Given the description of an element on the screen output the (x, y) to click on. 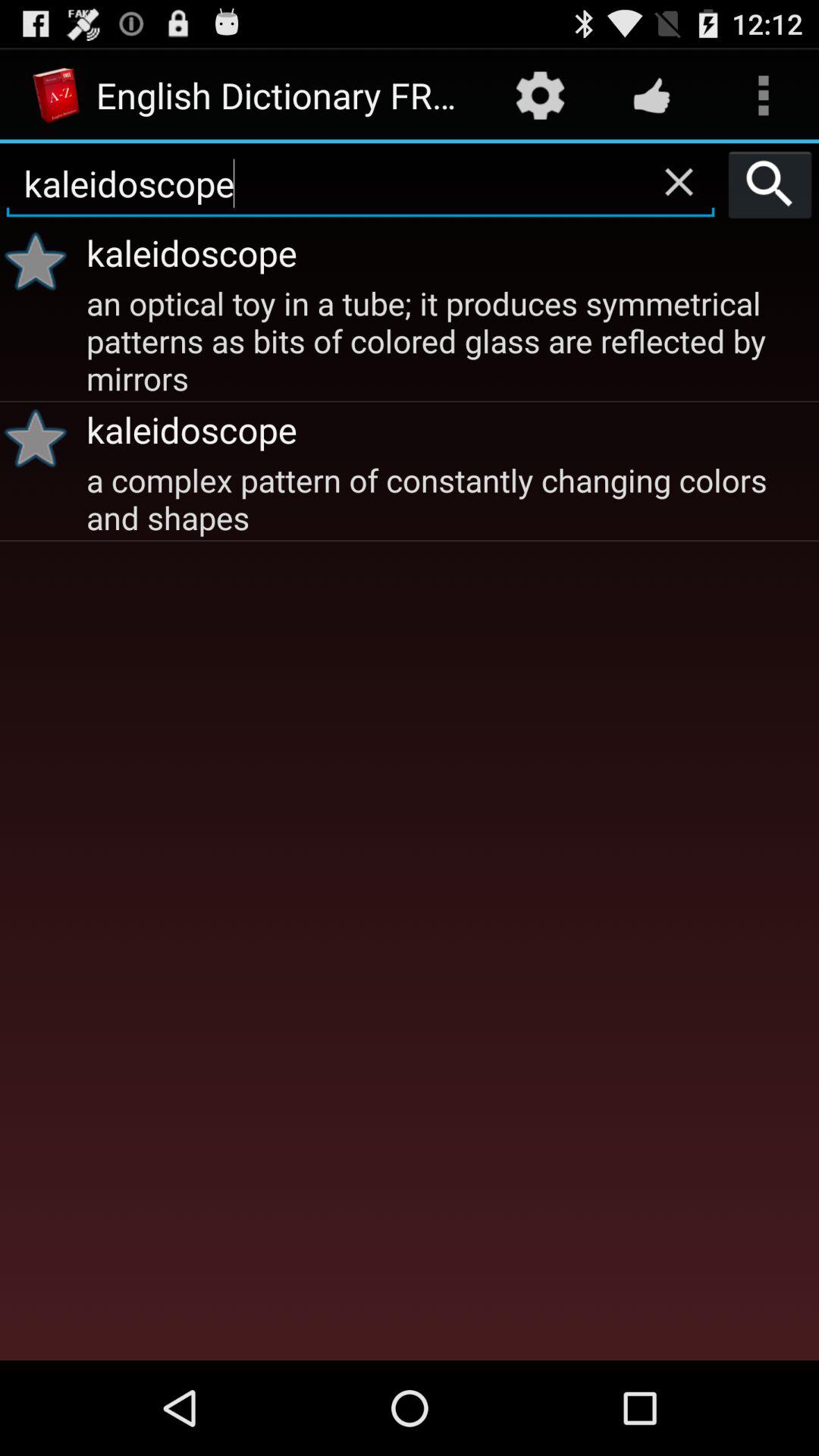
select item next to english dictionary free item (540, 95)
